Given the description of an element on the screen output the (x, y) to click on. 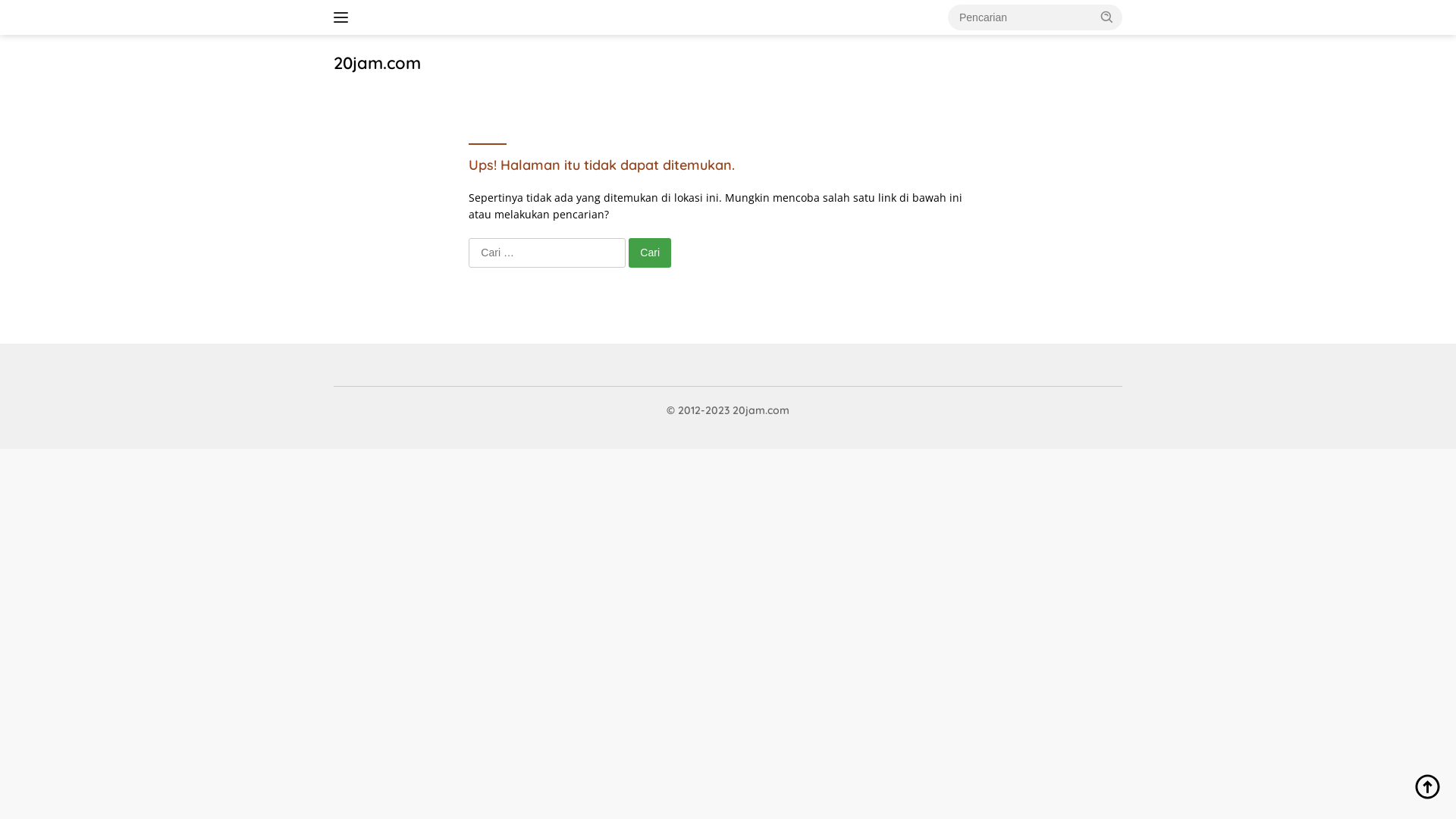
20jam.com Element type: text (376, 62)
Cari Element type: text (649, 252)
Menu Element type: hover (343, 17)
